Given the description of an element on the screen output the (x, y) to click on. 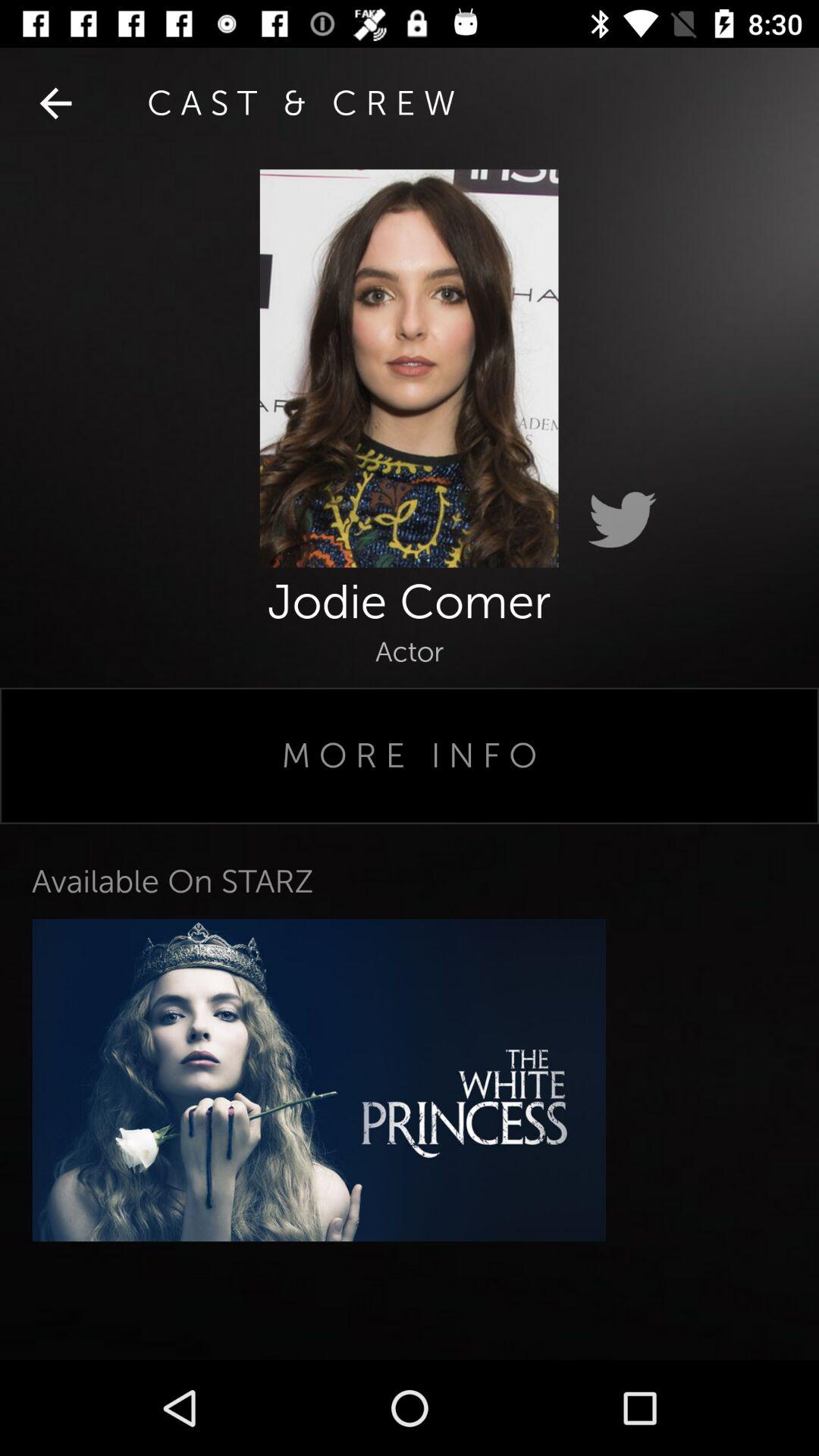
share on twitter (622, 520)
